Given the description of an element on the screen output the (x, y) to click on. 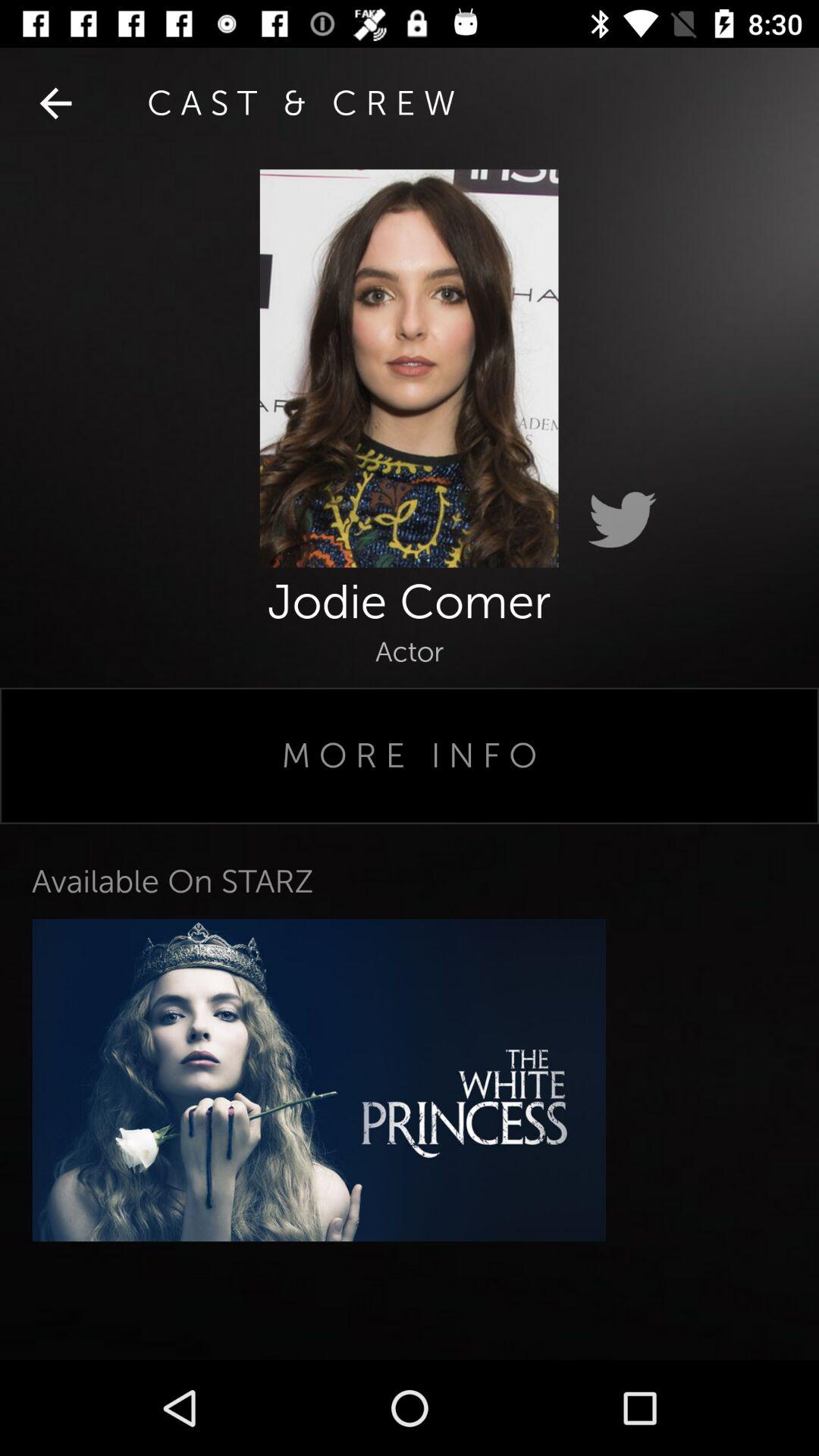
share on twitter (622, 520)
